Given the description of an element on the screen output the (x, y) to click on. 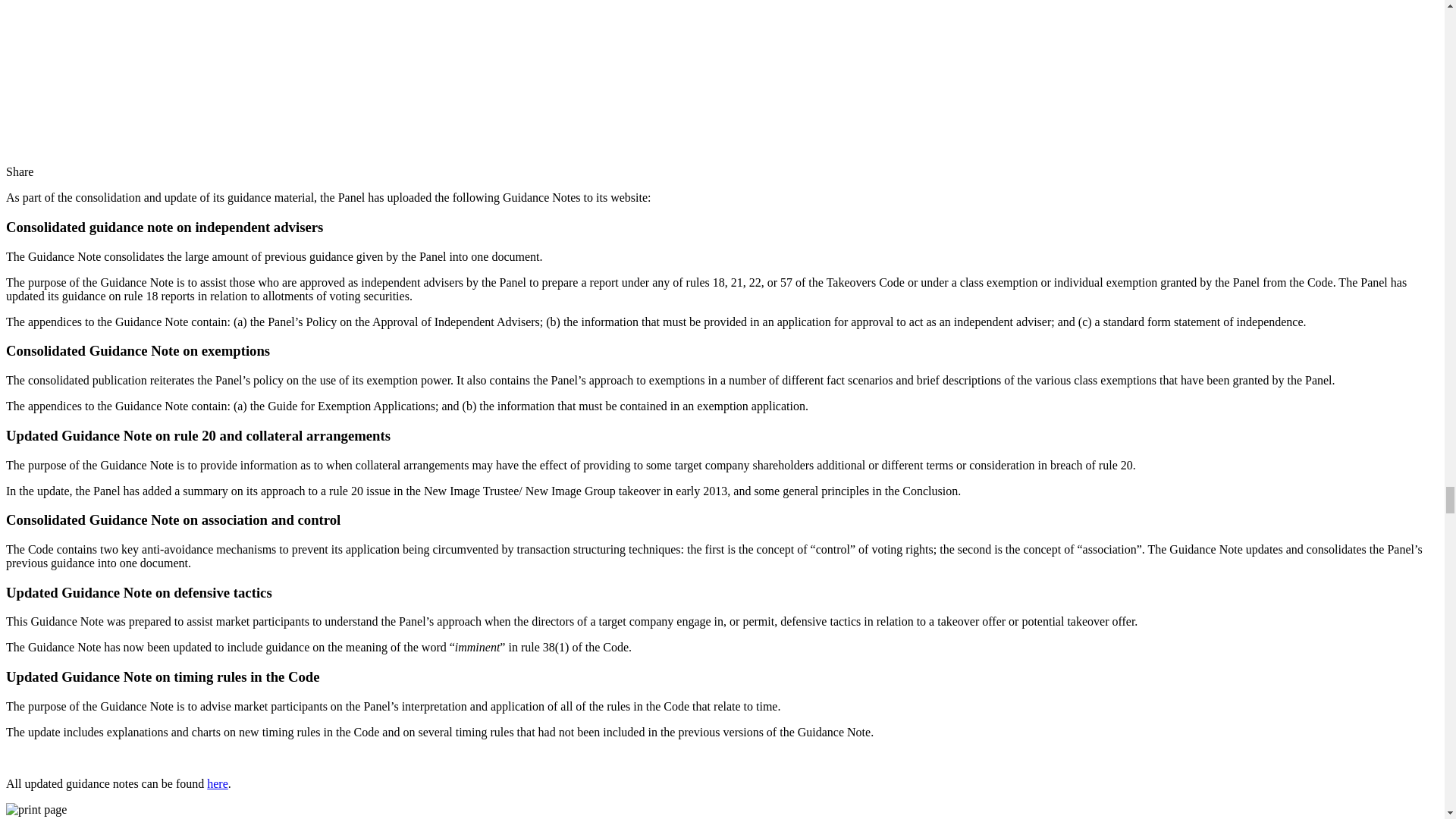
Guidance Notes (217, 783)
